Given the description of an element on the screen output the (x, y) to click on. 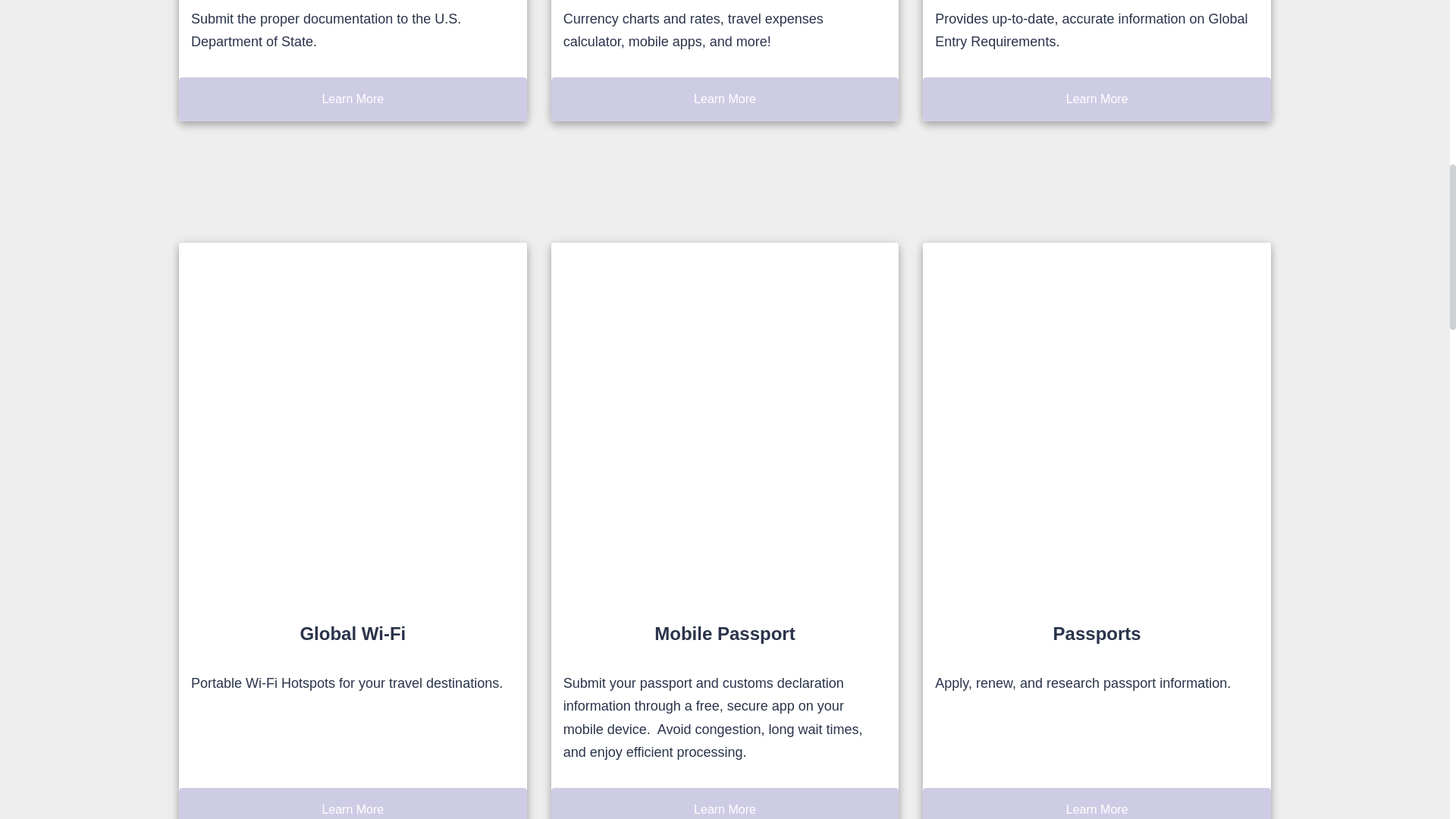
Learn More (725, 98)
Learn More (725, 803)
Learn More (353, 803)
Learn More (1097, 803)
Learn More (353, 98)
Learn More (1097, 98)
